Given the description of an element on the screen output the (x, y) to click on. 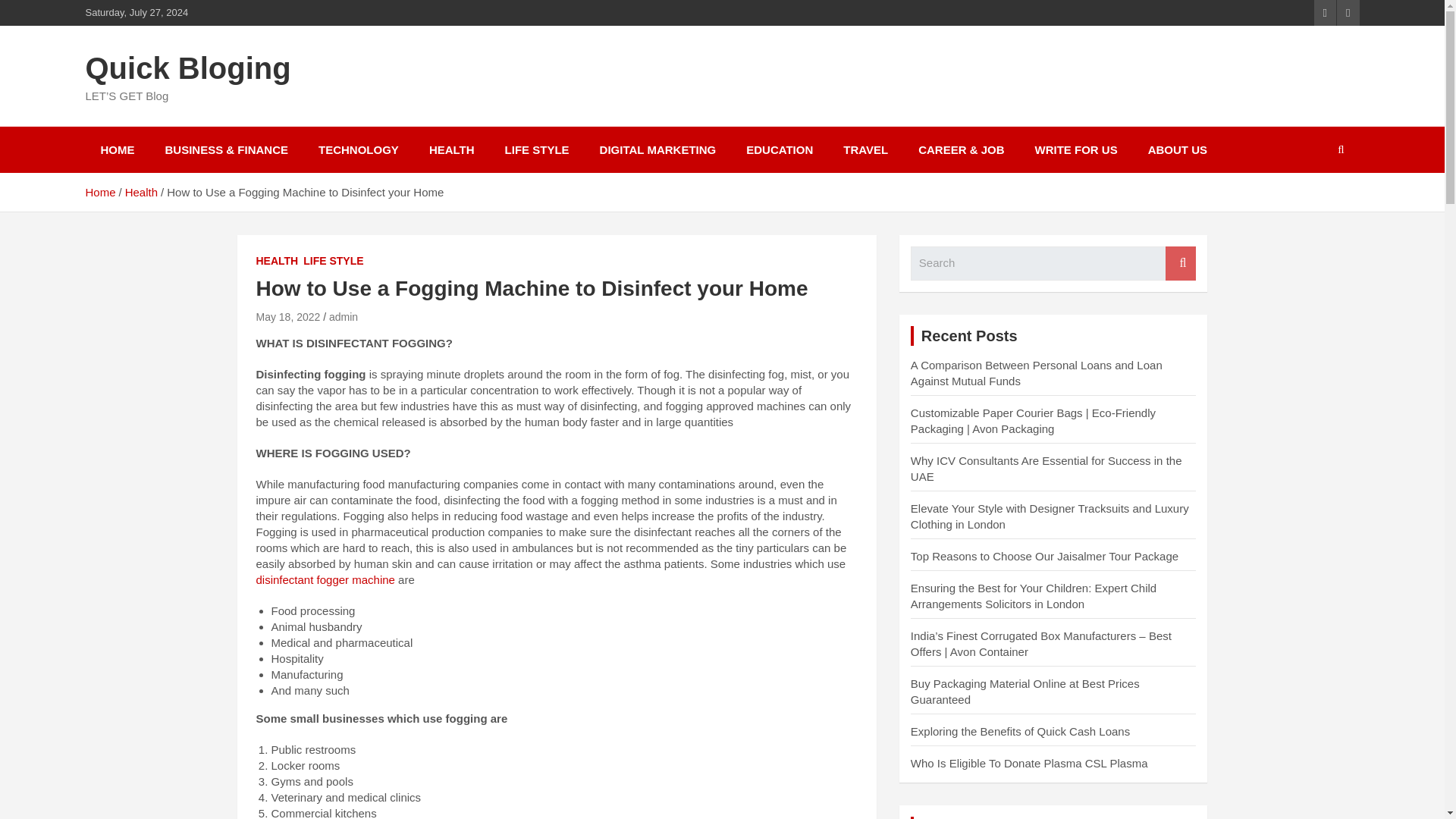
WRITE FOR US (1076, 149)
Quick Bloging (186, 68)
Buy Packaging Material Online at Best Prices Guaranteed (1025, 691)
Why ICV Consultants Are Essential for Success in the UAE (1046, 468)
DIGITAL MARKETING (658, 149)
HEALTH (277, 261)
LIFE STYLE (537, 149)
HOME (116, 149)
TRAVEL (865, 149)
May 18, 2022 (288, 316)
Search (1180, 263)
Home (99, 192)
HEALTH (451, 149)
